Given the description of an element on the screen output the (x, y) to click on. 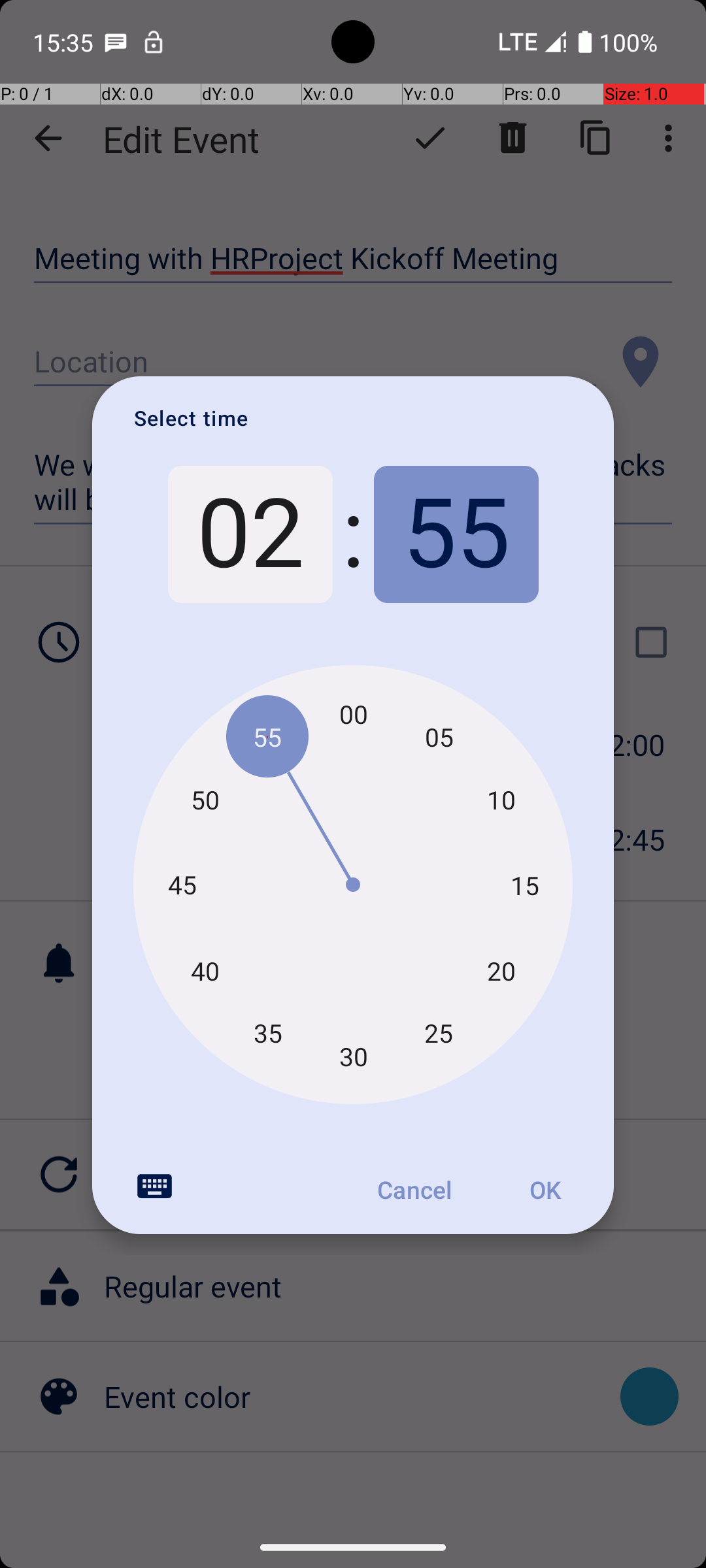
02 Element type: android.view.View (250, 534)
